Given the description of an element on the screen output the (x, y) to click on. 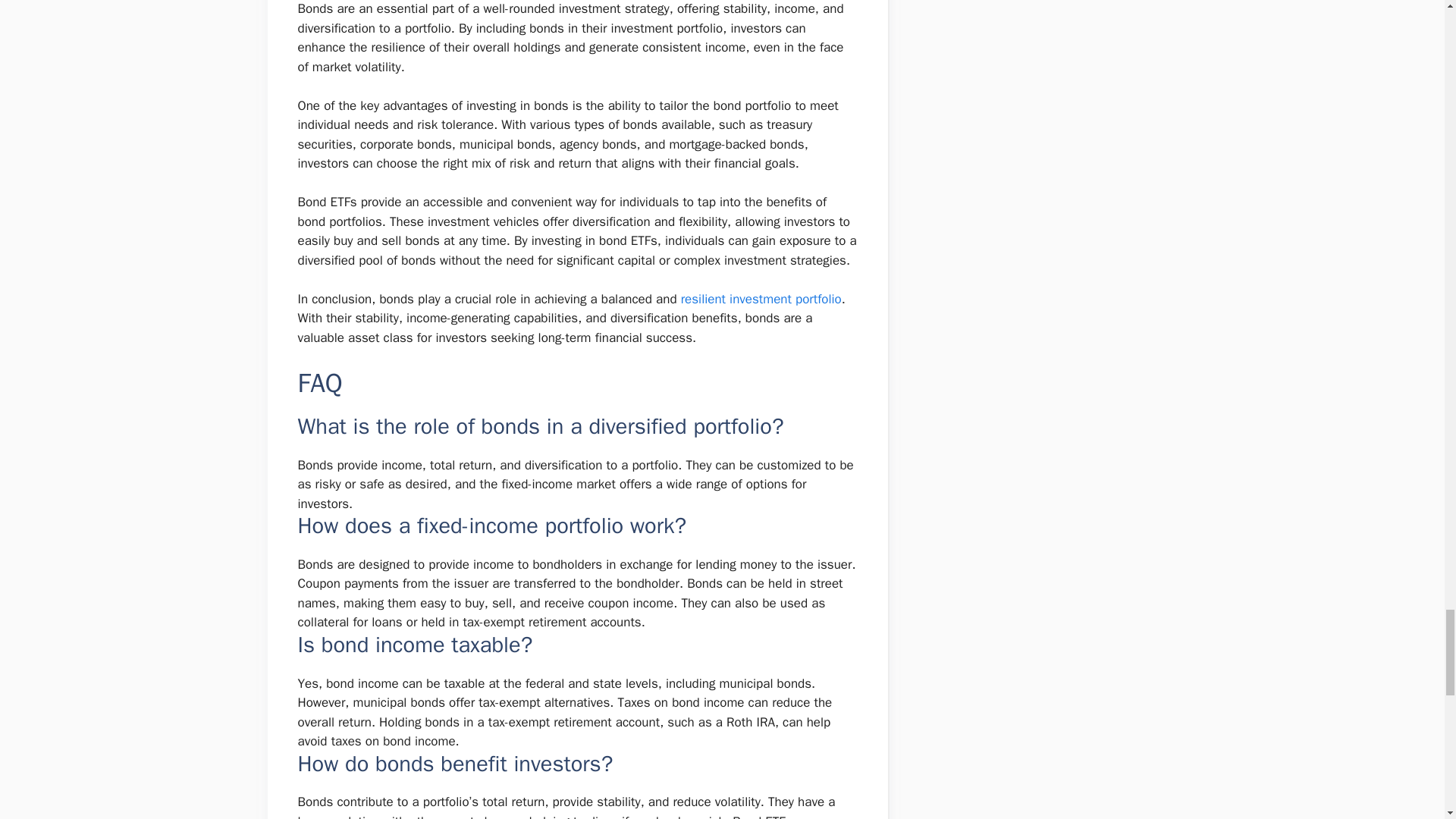
resilient investment portfolio (761, 299)
